Given the description of an element on the screen output the (x, y) to click on. 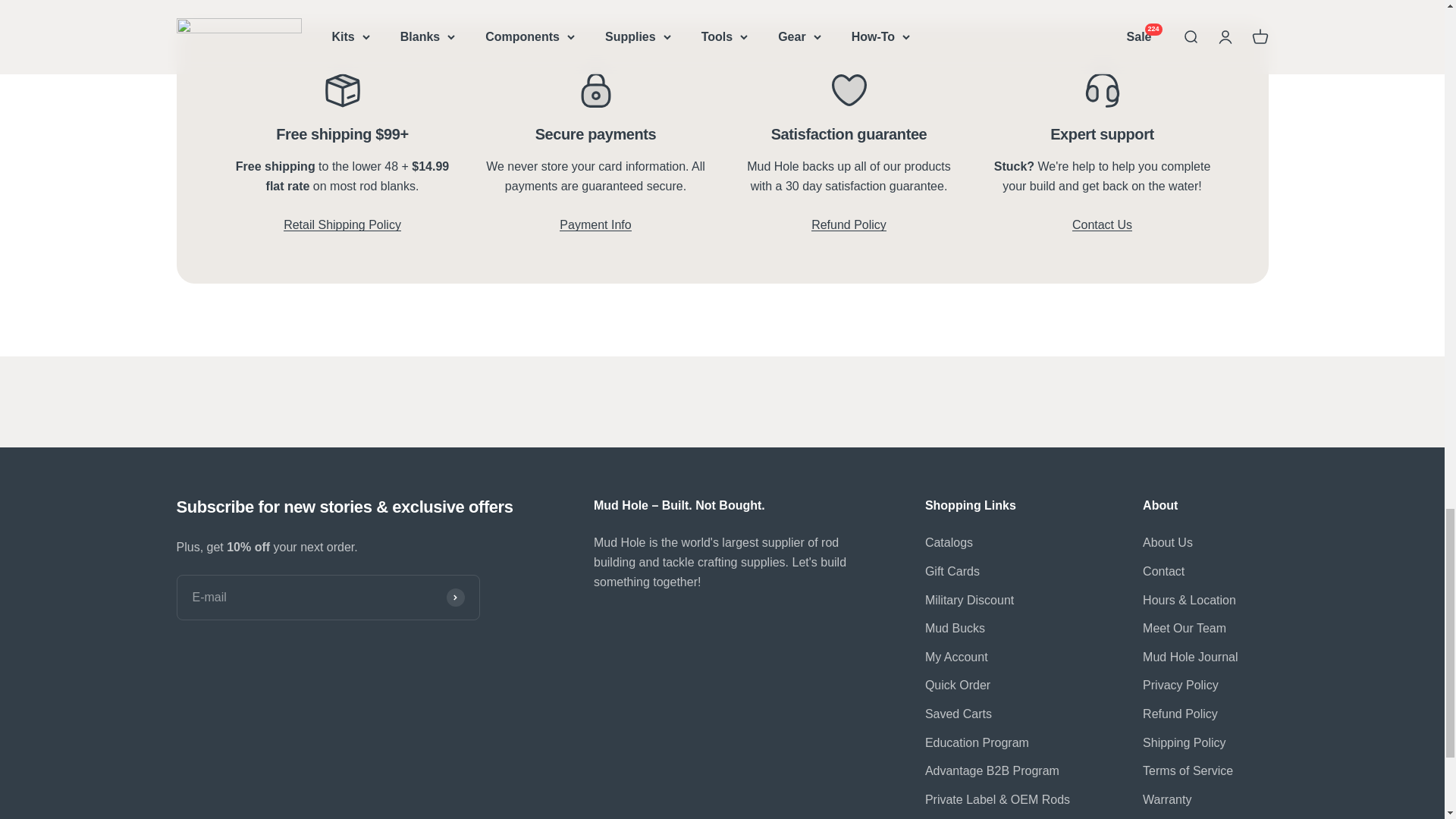
Refund Policy (848, 234)
Terms of Service (594, 234)
Shipping Policy (342, 224)
Contact Us (1101, 234)
